Given the description of an element on the screen output the (x, y) to click on. 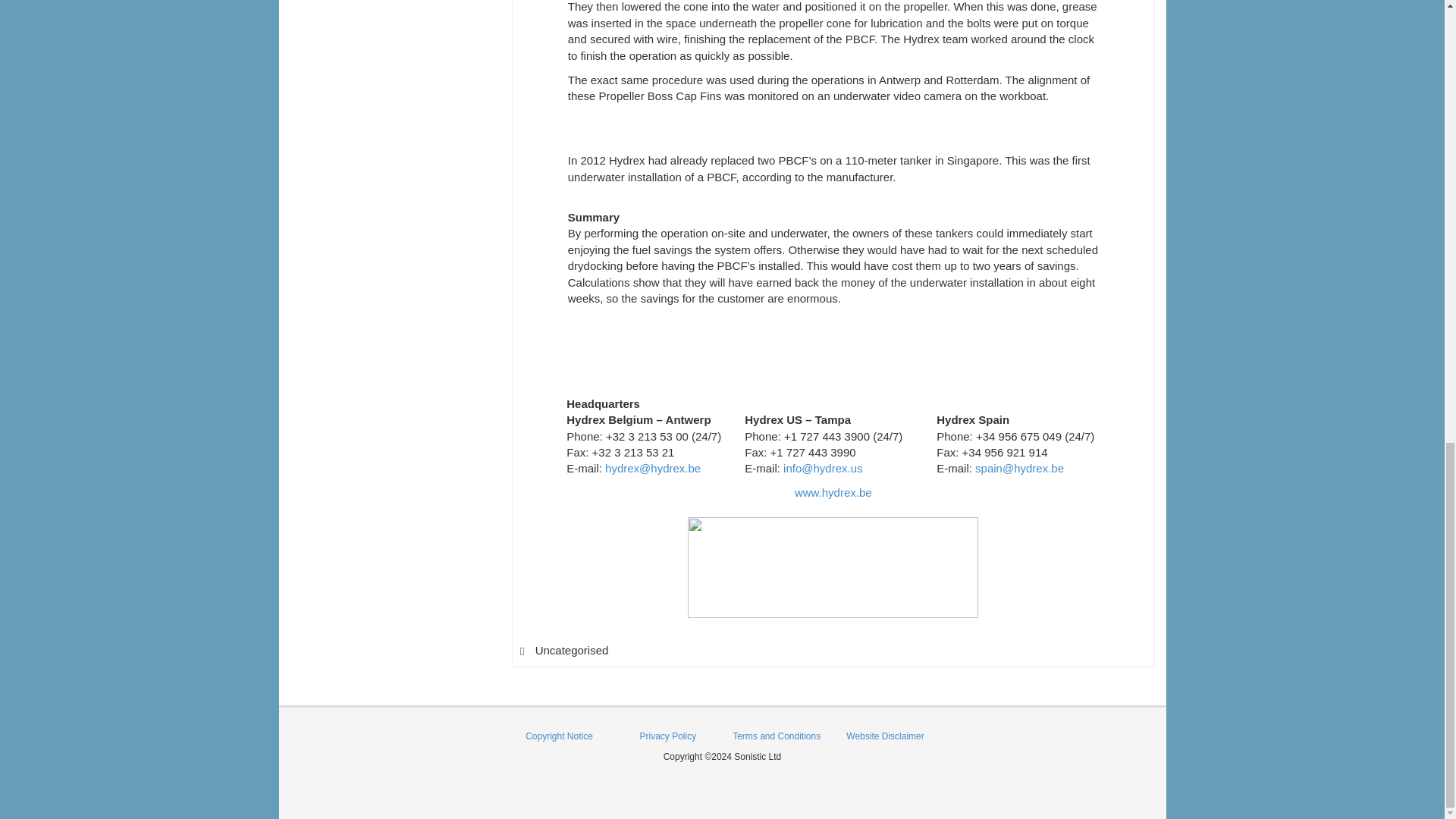
Terms and Conditions (776, 736)
Website Disclaimer (884, 736)
Privacy Policy (667, 736)
www.hydrex.be (833, 492)
Copyright Notice (558, 736)
